Given the description of an element on the screen output the (x, y) to click on. 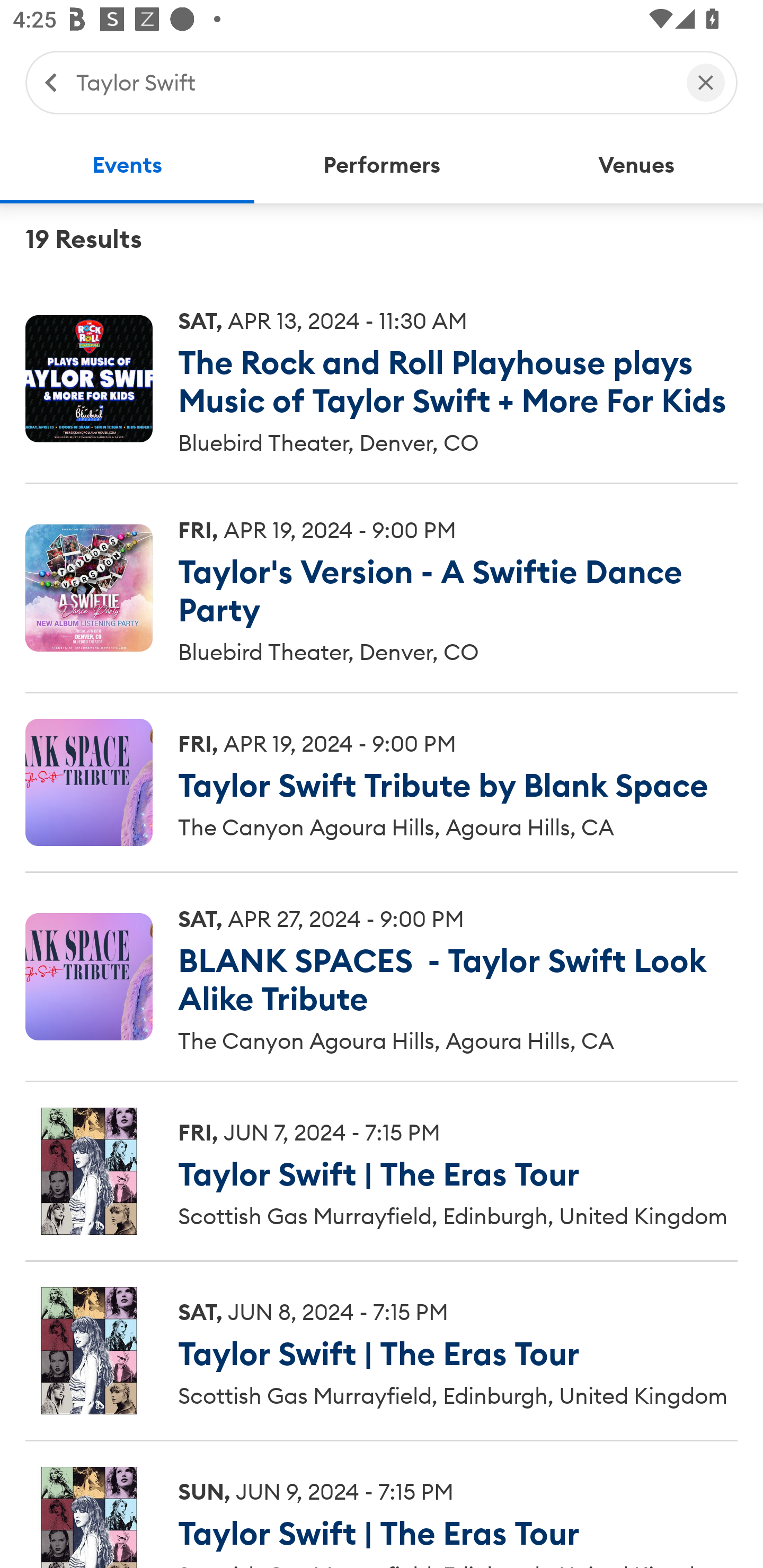
Taylor Swift (371, 81)
Clear Search (705, 81)
Performers (381, 165)
Venues (635, 165)
